Given the description of an element on the screen output the (x, y) to click on. 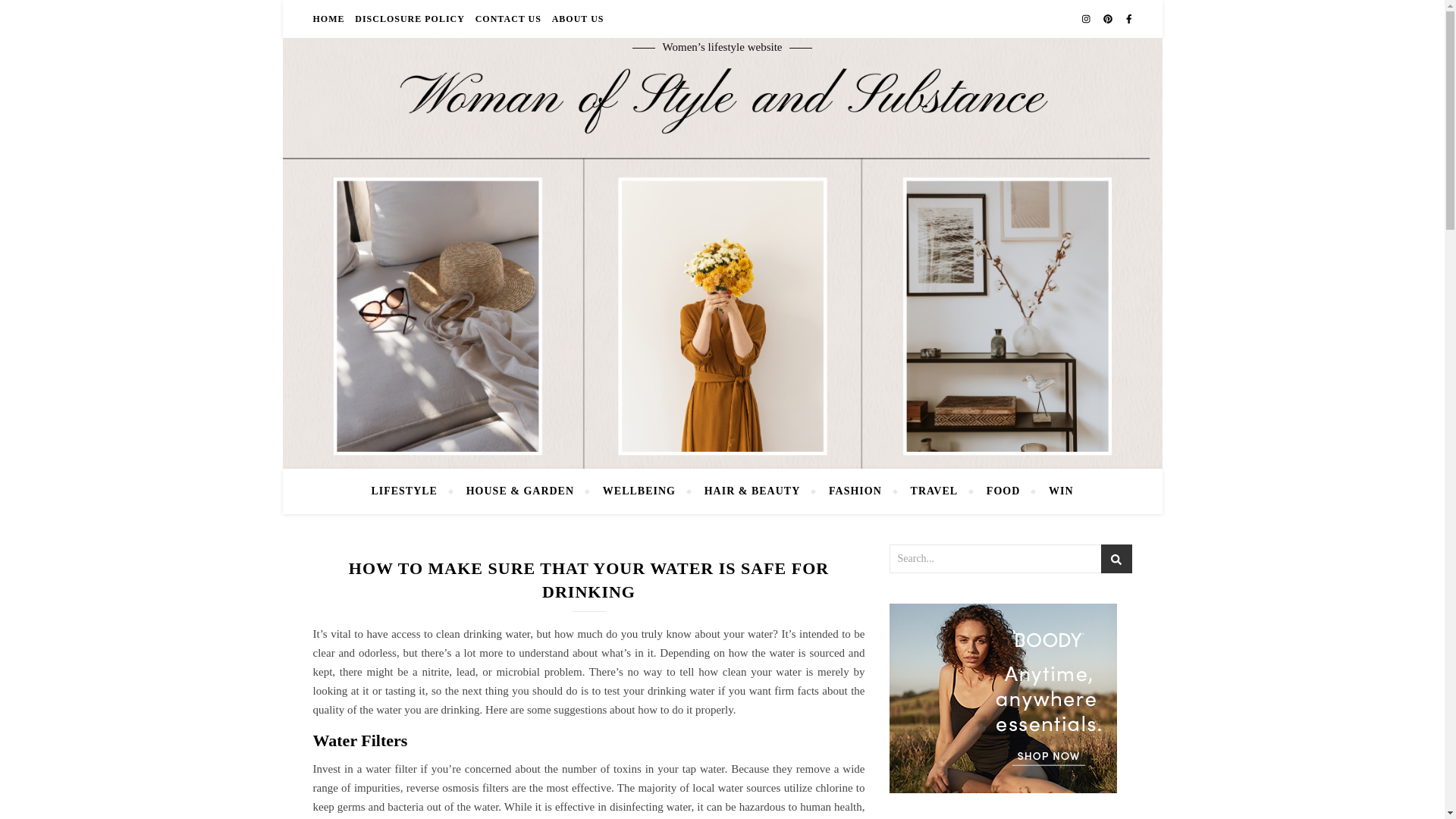
CONTACT US (507, 18)
FOOD (1003, 491)
DISCLOSURE POLICY (409, 18)
WELLBEING (638, 491)
ABOUT US (576, 18)
HOME (330, 18)
TRAVEL (934, 491)
FASHION (855, 491)
LIFESTYLE (410, 491)
